Given the description of an element on the screen output the (x, y) to click on. 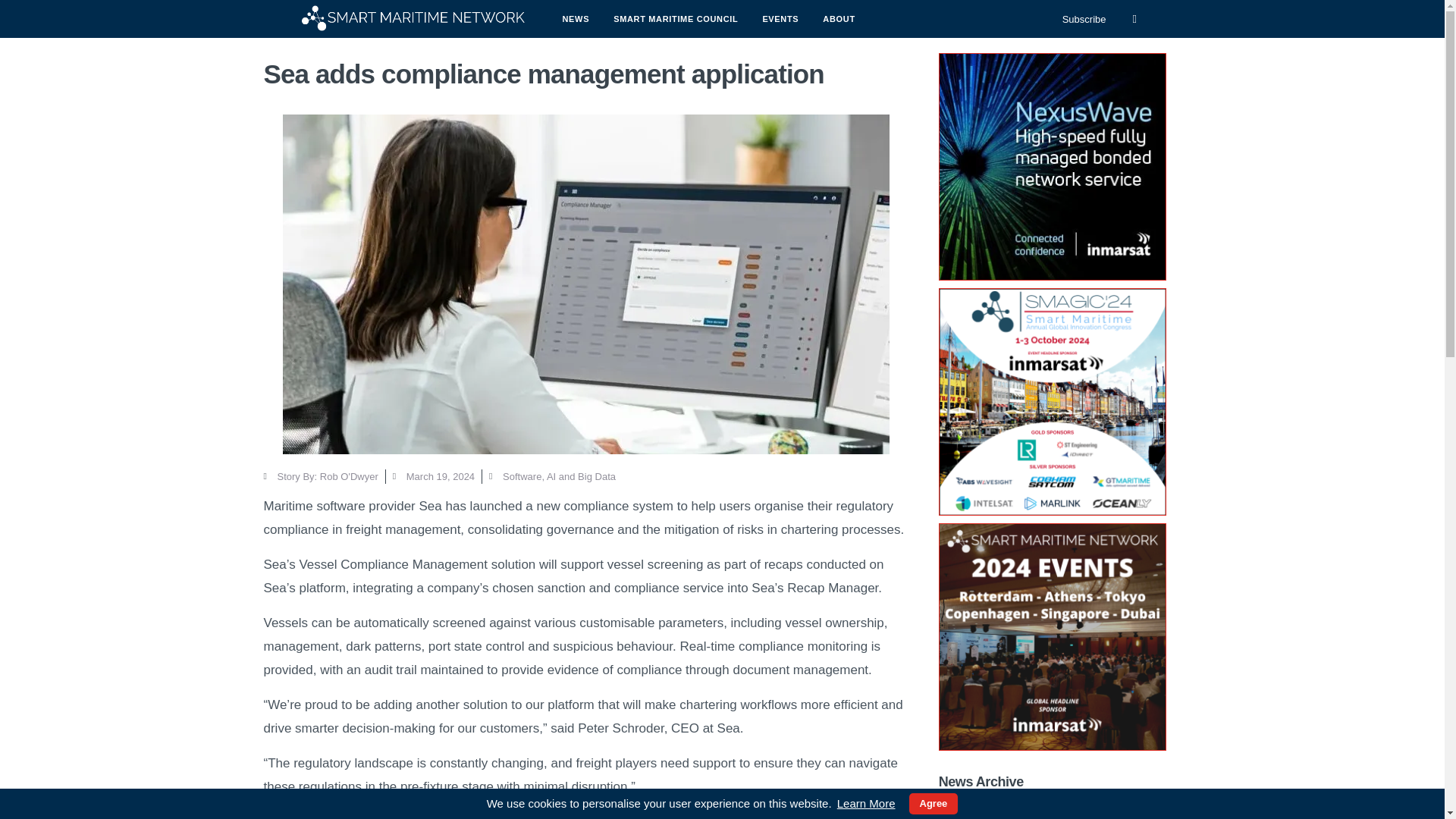
SMART MARITIME COUNCIL (675, 18)
Agree (933, 803)
Learn More (866, 803)
NEWS (576, 18)
